Given the description of an element on the screen output the (x, y) to click on. 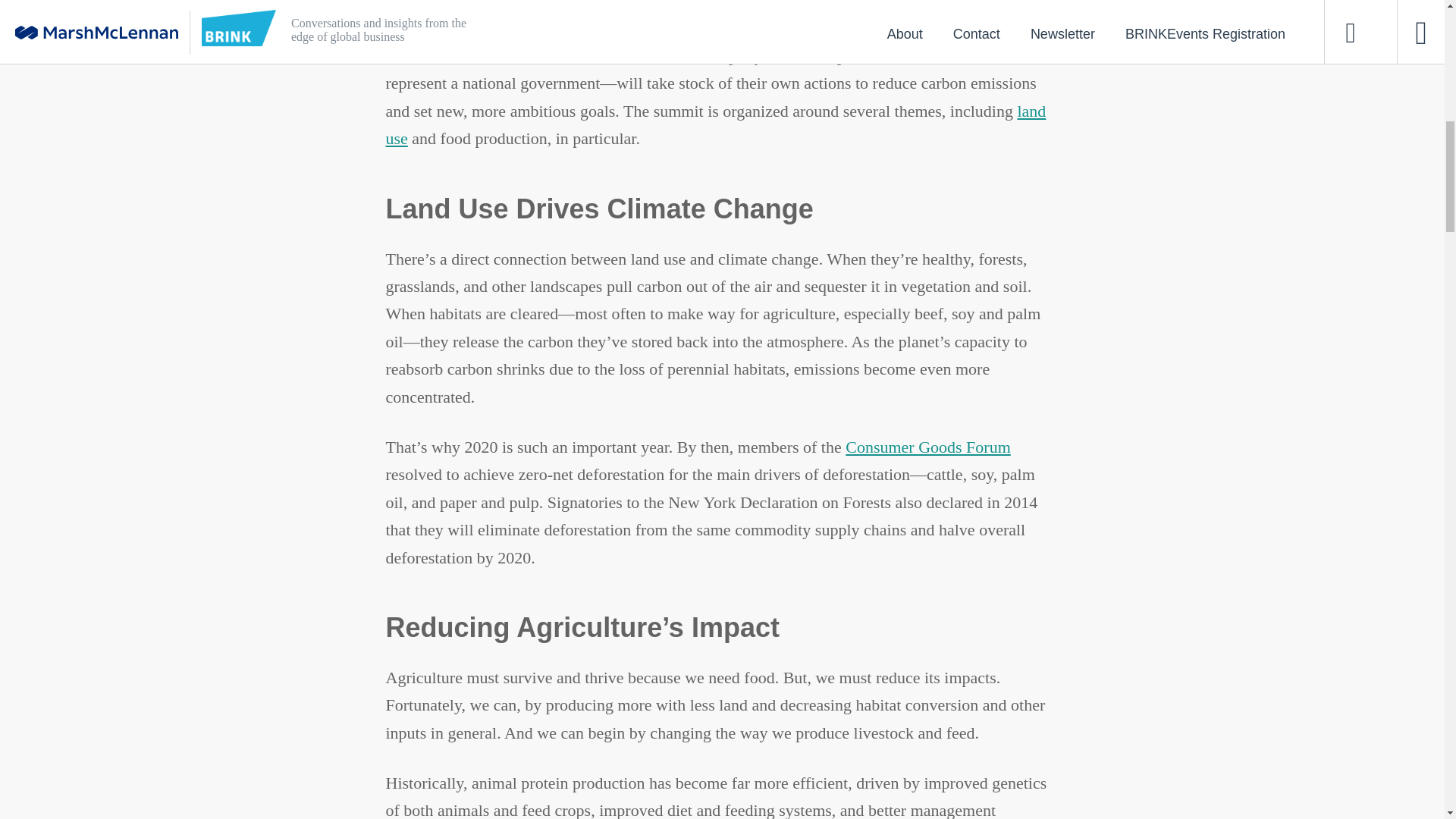
Global Climate Action Summit (705, 41)
land use (715, 124)
Consumer Goods Forum (927, 446)
